Given the description of an element on the screen output the (x, y) to click on. 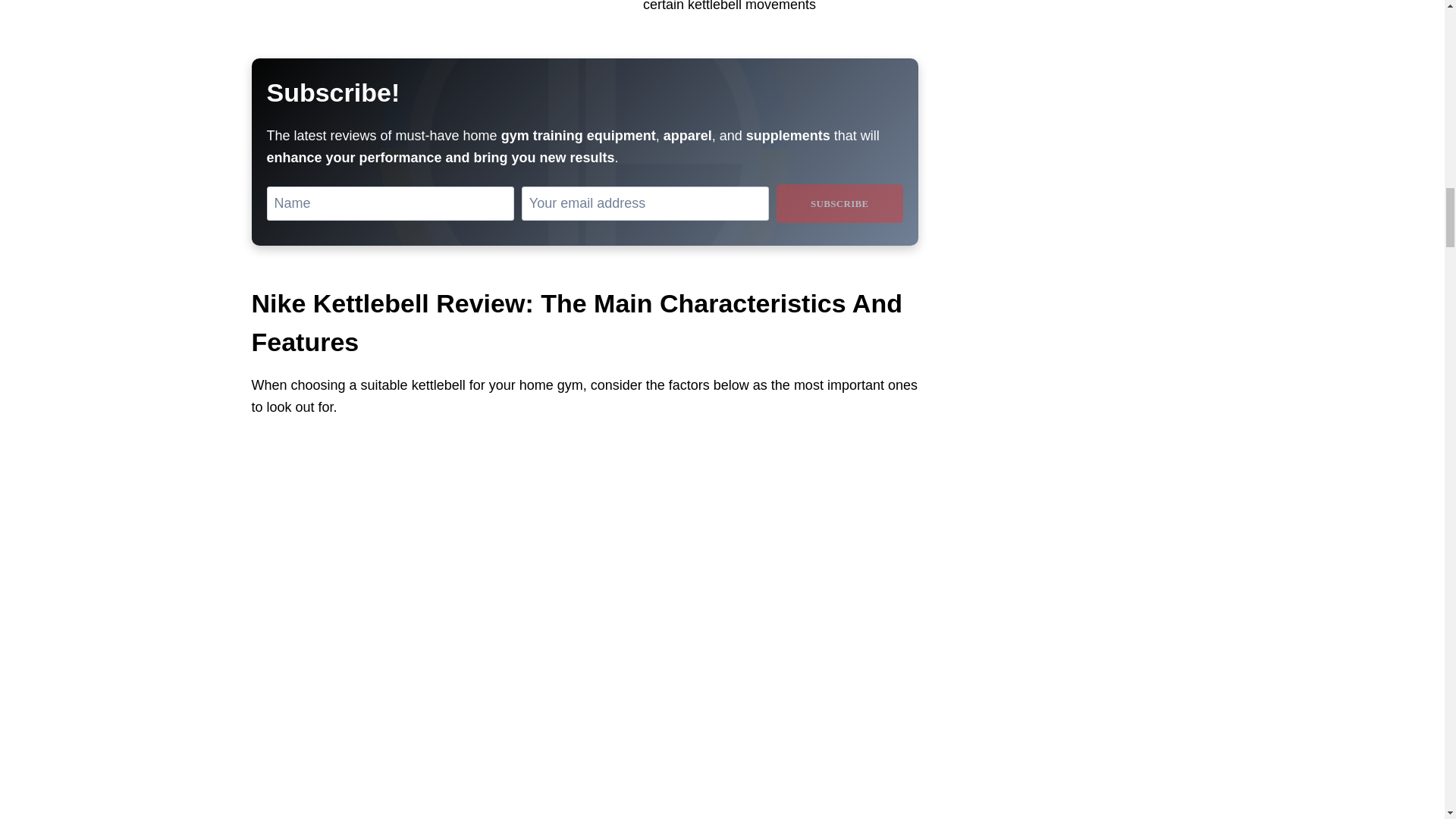
SUBSCRIBE (839, 203)
